Given the description of an element on the screen output the (x, y) to click on. 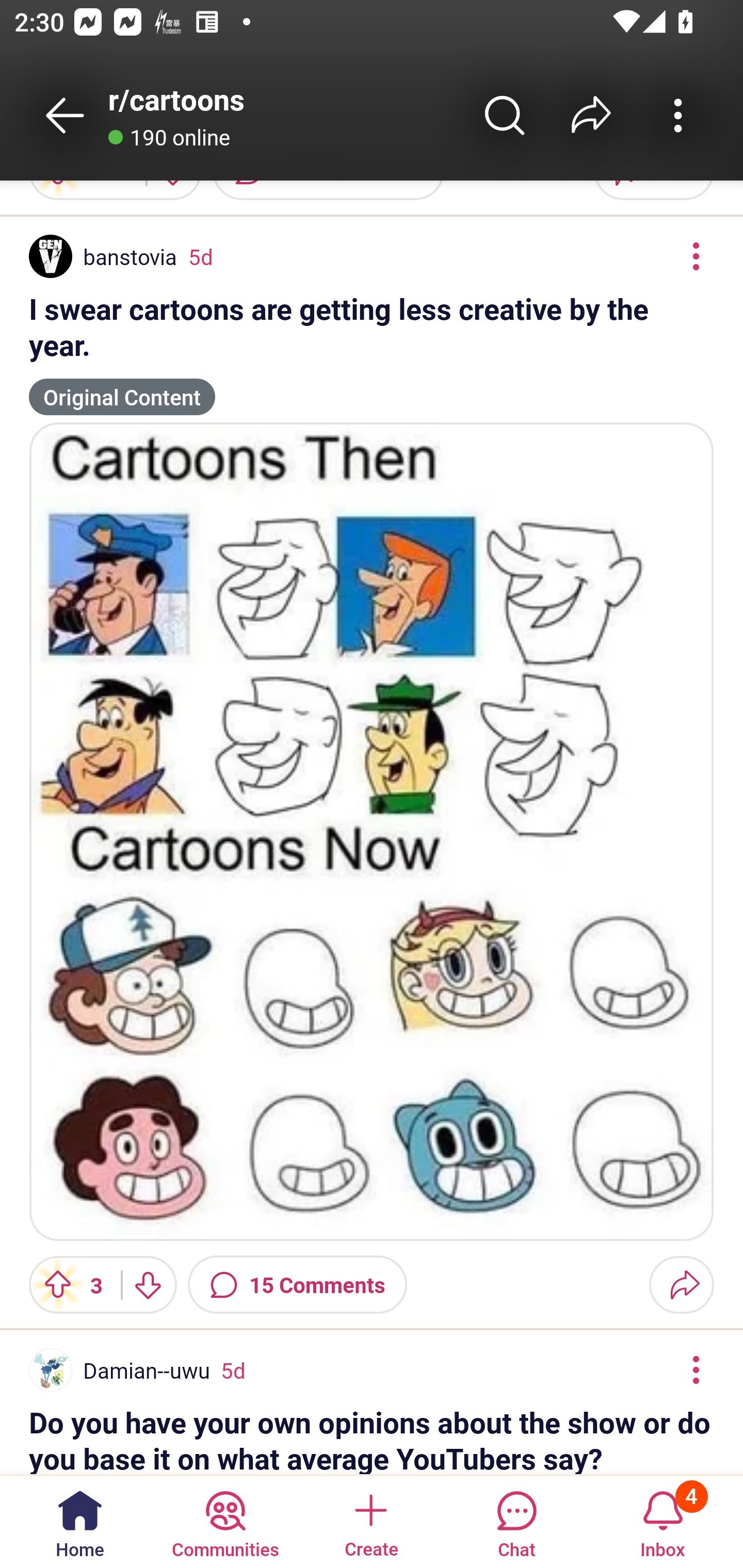
Back (64, 115)
Search r/﻿cartoons (504, 115)
Share r/﻿cartoons (591, 115)
More community actions (677, 115)
Original Content (121, 387)
Home (80, 1520)
Communities (225, 1520)
Create a post Create (370, 1520)
Chat (516, 1520)
Inbox, has 4 notifications 4 Inbox (662, 1520)
